Given the description of an element on the screen output the (x, y) to click on. 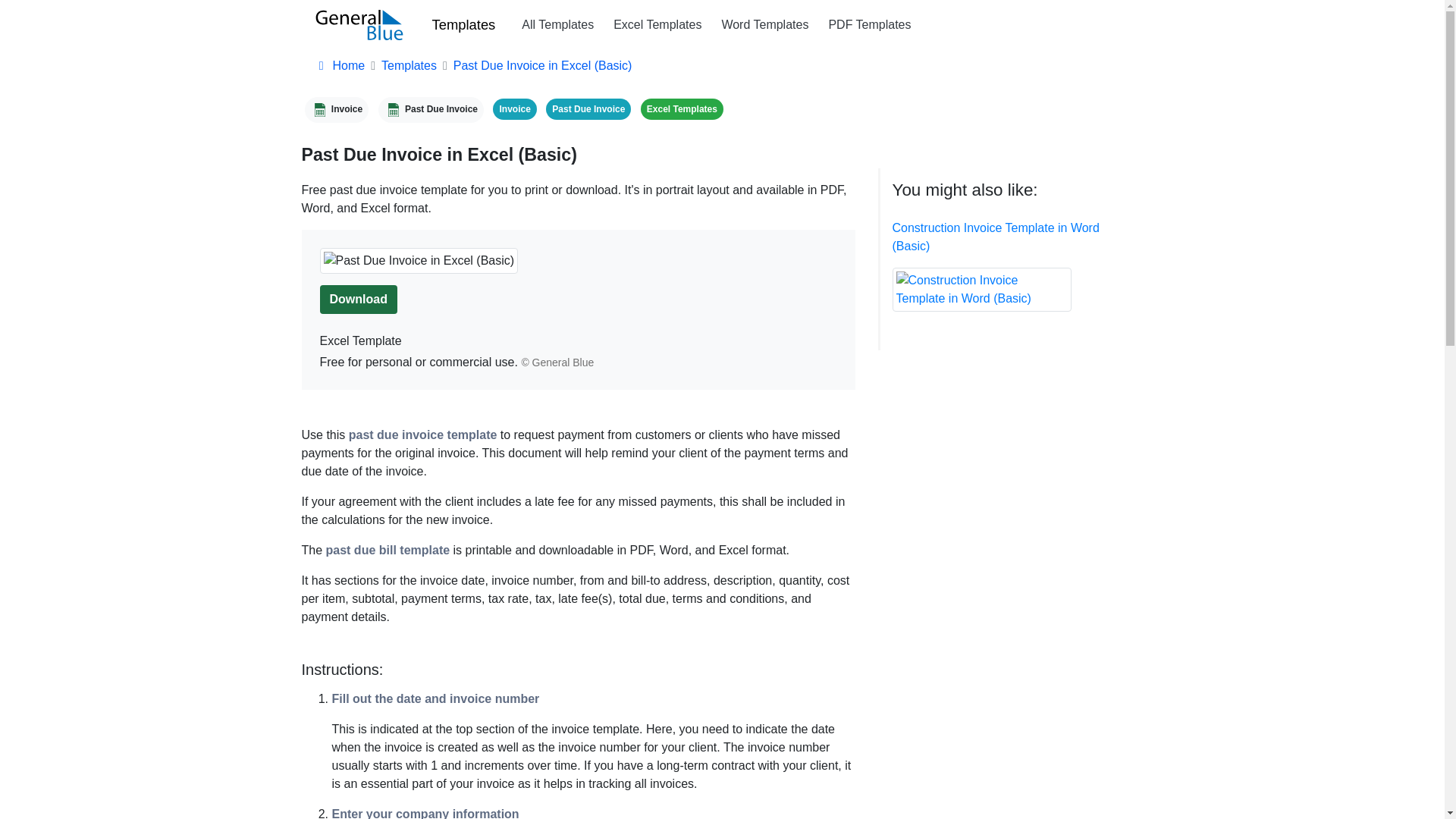
Free Excel, Word and PDF Templates (557, 24)
Word Templates (763, 24)
See all Past Due Invoice Templates in Excel (430, 107)
PDF Templates (869, 24)
Excel Templates (681, 107)
Free Excel Templates and Spreadsheets (657, 24)
Excel Templates (657, 24)
Past Due Invoice (588, 107)
Past Due Invoice (430, 107)
See all Excel Templates (681, 107)
